Given the description of an element on the screen output the (x, y) to click on. 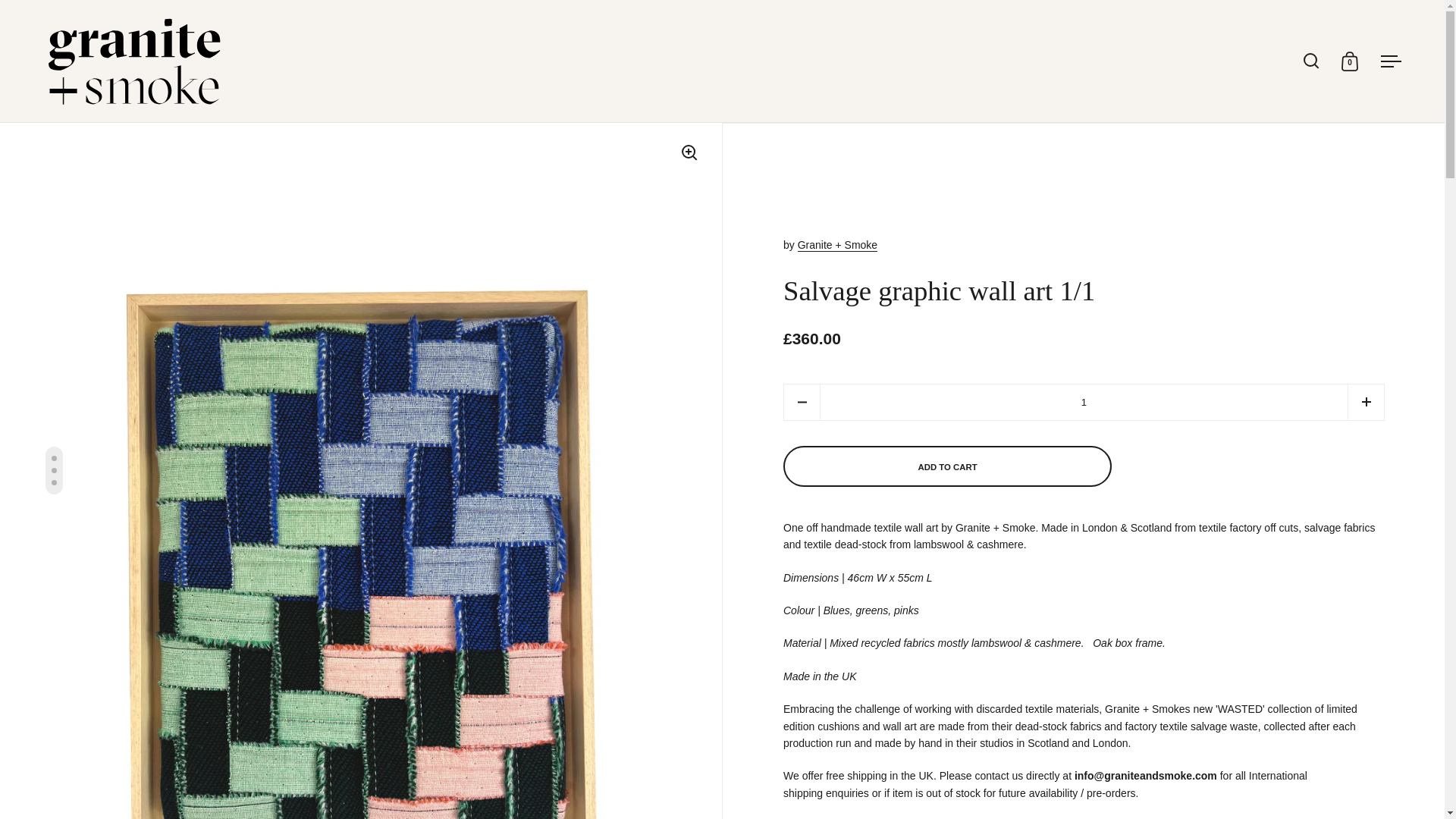
Open menu (1390, 60)
Open cart (1349, 61)
ADD TO CART (947, 465)
Open cart (1350, 60)
1 (1084, 402)
Open search (1311, 60)
ADD TO CART (947, 466)
0 (1349, 61)
